Given the description of an element on the screen output the (x, y) to click on. 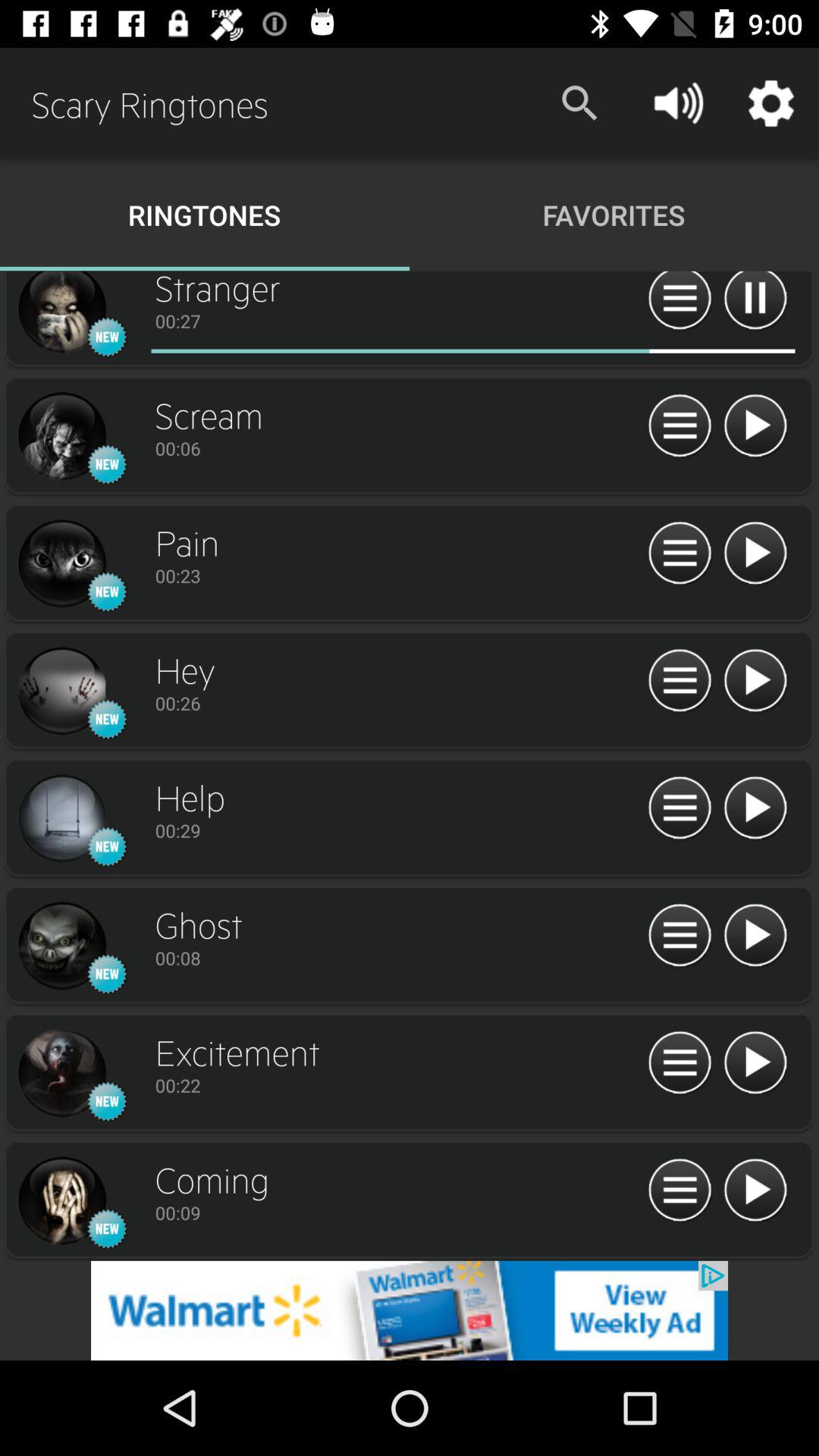
profile (61, 818)
